Given the description of an element on the screen output the (x, y) to click on. 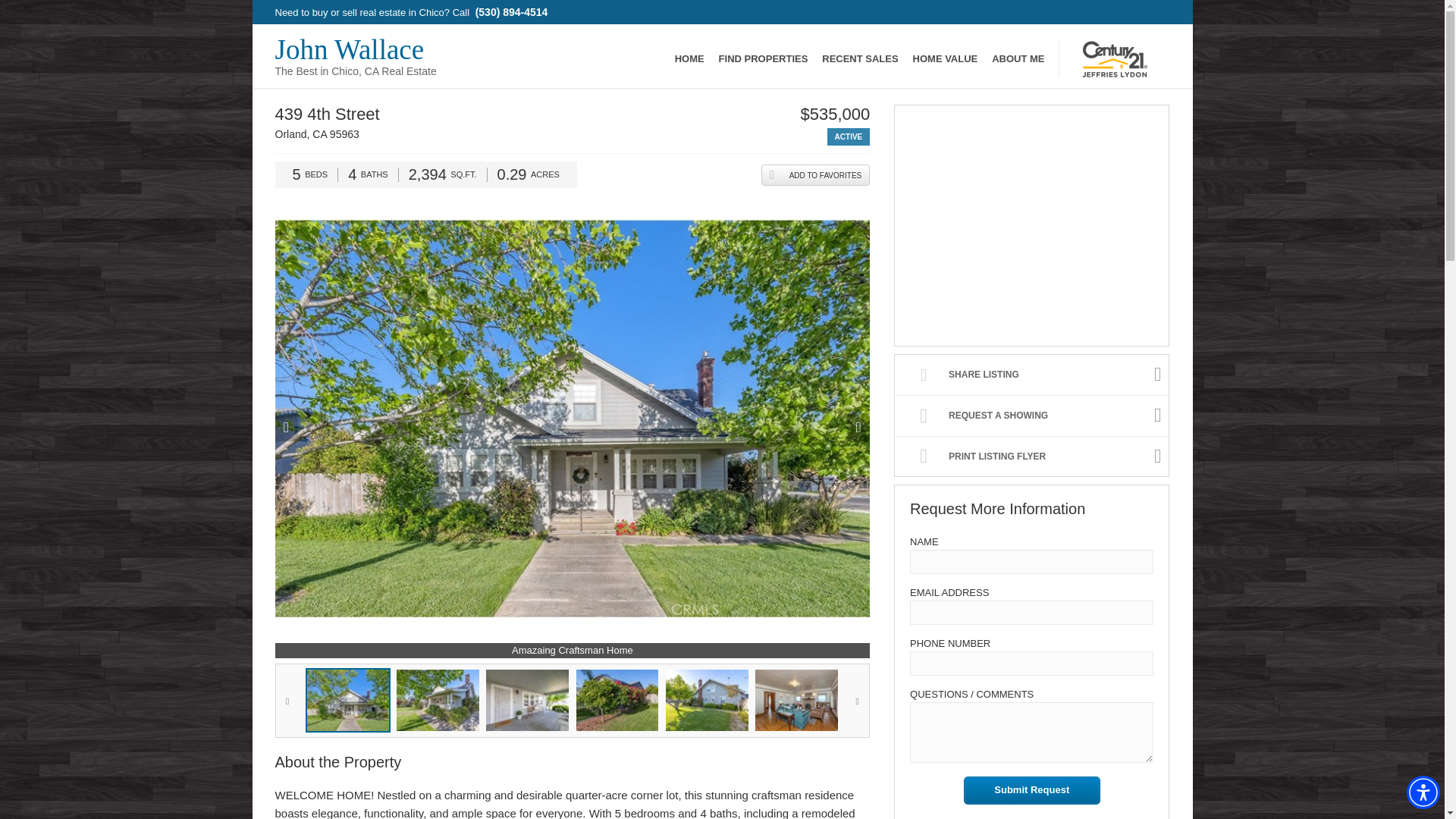
RECENT SALES (860, 58)
Accessibility Menu (1422, 792)
ADD TO FAVORITES (815, 174)
FIND PROPERTIES (763, 58)
HOME (355, 55)
ABOUT ME (689, 58)
HOME VALUE (1017, 58)
